Given the description of an element on the screen output the (x, y) to click on. 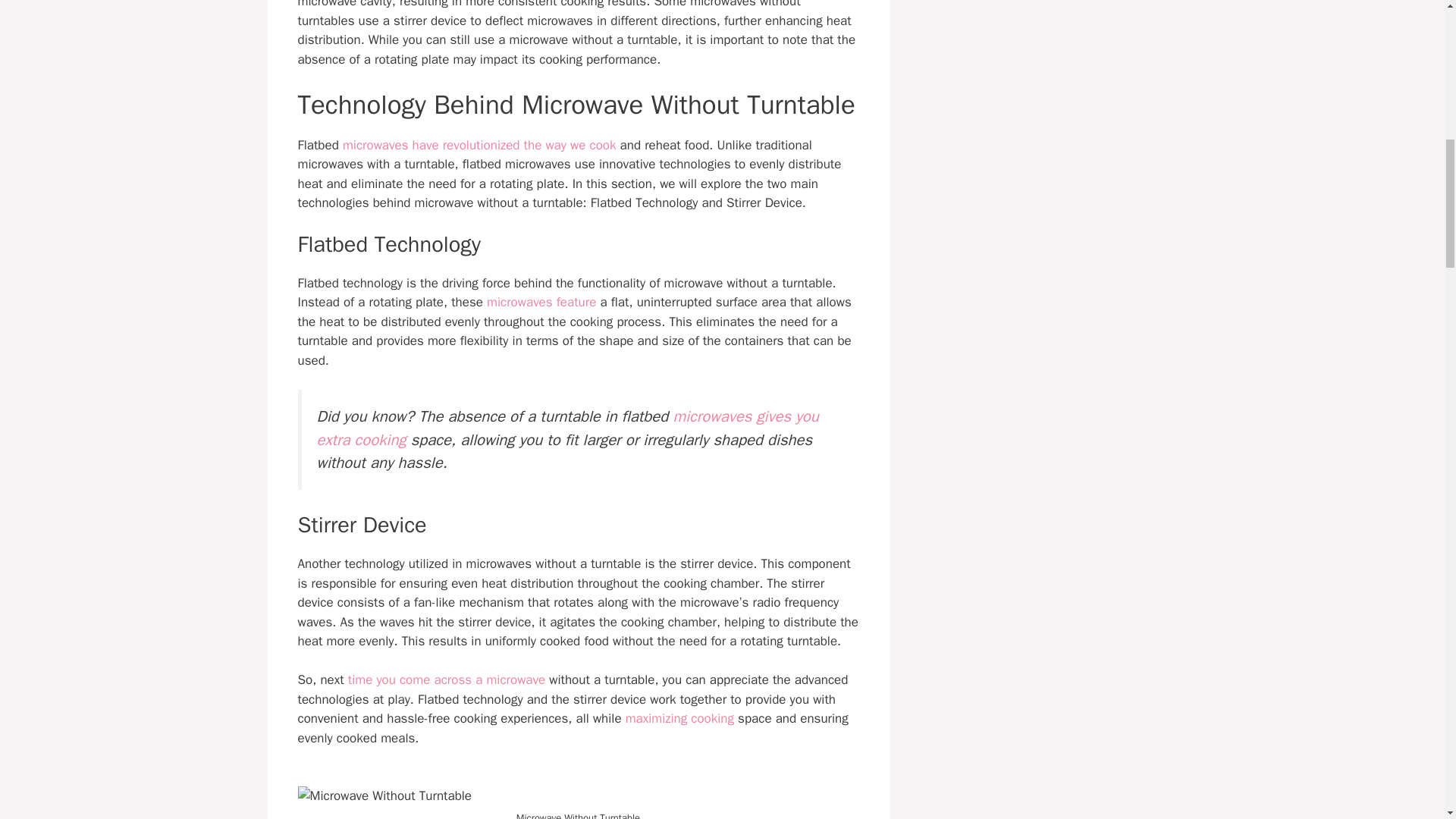
time you come across a microwave (445, 679)
maximizing cooking (679, 718)
microwaves gives you extra cooking (567, 427)
microwaves have revolutionized the way we cook (478, 145)
microwaves feature (540, 302)
